Given the description of an element on the screen output the (x, y) to click on. 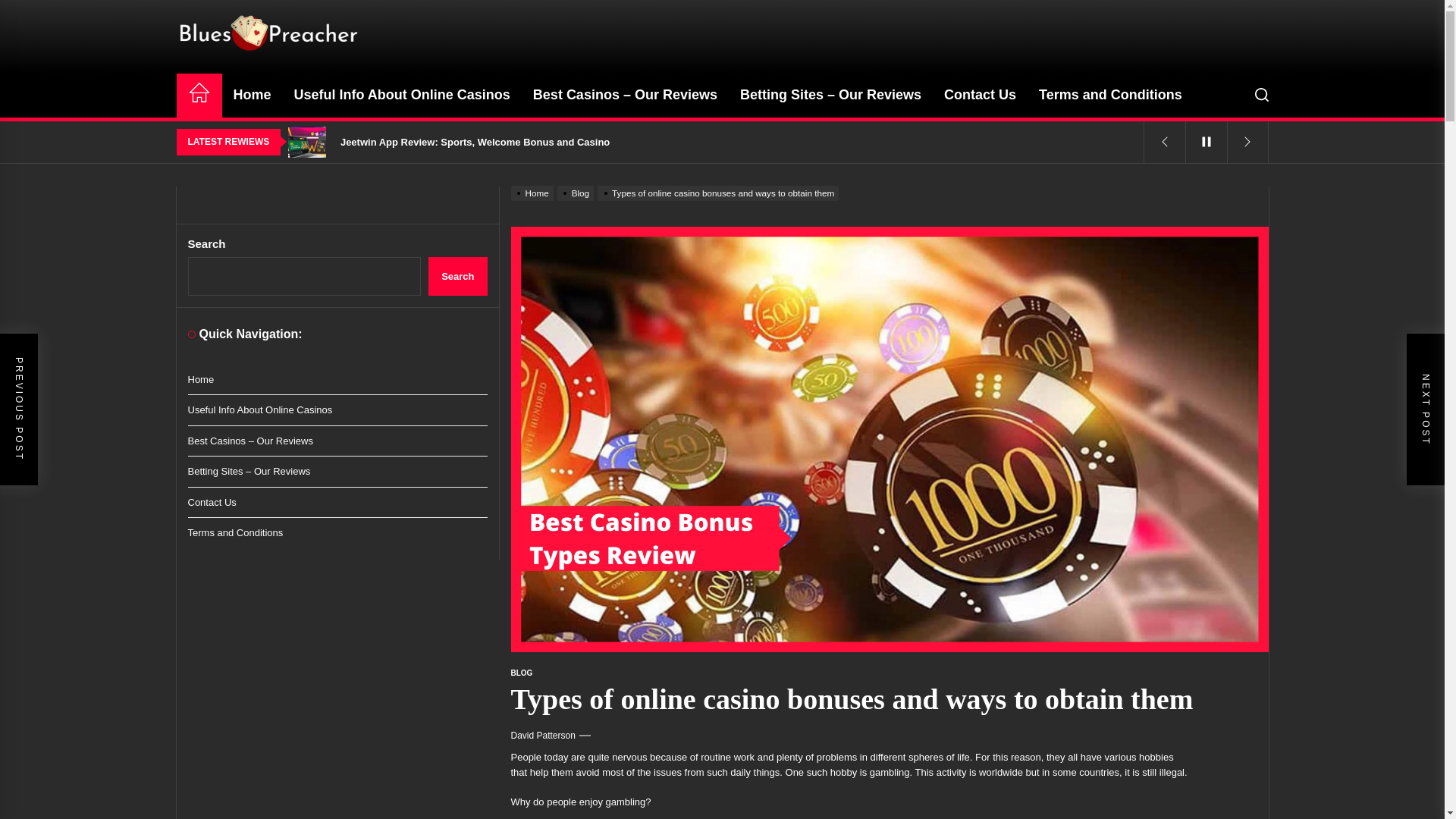
David Patterson (543, 735)
Home (251, 95)
Useful Info About Online Casinos (401, 95)
Home (534, 193)
Blog (576, 193)
BLOG (521, 672)
Terms and Conditions (1110, 95)
Online Casino Reviews (355, 80)
Contact Us (980, 95)
Jeetwin App Review: Sports, Welcome Bonus and Casino (718, 142)
Jeetwin App Review: Sports, Welcome Bonus and Casino (718, 142)
Types of online casino bonuses and ways to obtain them (719, 193)
Home (198, 95)
